Given the description of an element on the screen output the (x, y) to click on. 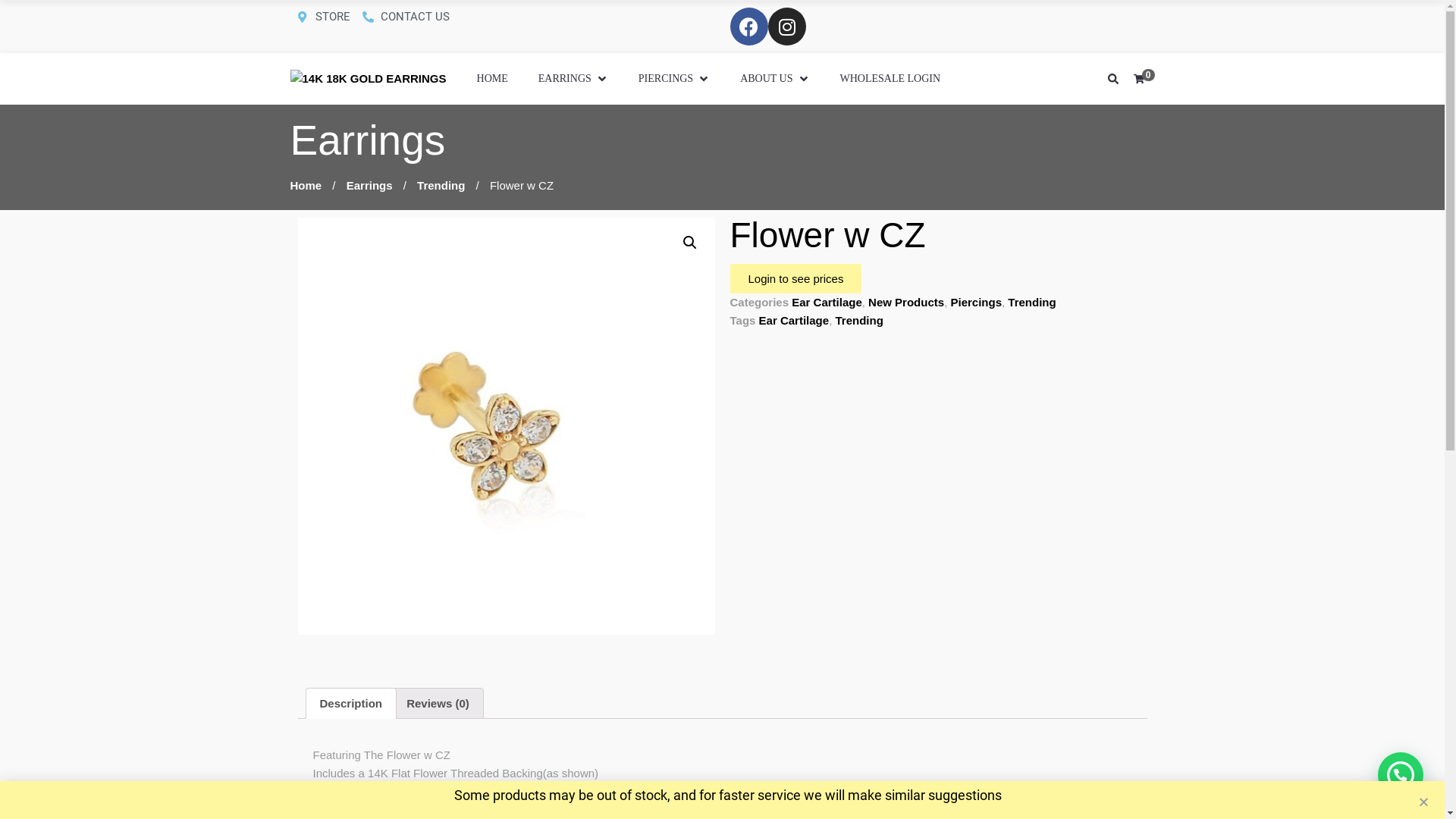
Description Element type: text (351, 703)
ABOUT US Element type: text (774, 78)
Home Element type: text (305, 184)
WHOLESALE LOGIN Element type: text (890, 78)
New Products Element type: text (906, 301)
Ear Cartilage Element type: text (794, 319)
STORE Element type: text (323, 16)
14K 18K GOLD EARRINGS Element type: hover (367, 78)
Earrings Element type: text (369, 184)
Piercings Element type: text (975, 301)
Trending Element type: text (858, 319)
EARRINGS Element type: text (573, 78)
Login to see prices Element type: text (795, 278)
Trending Element type: text (440, 184)
PIERCINGS Element type: text (673, 78)
Trending Element type: text (1031, 301)
CONTACT US Element type: text (405, 16)
Ear Cartilage Element type: text (826, 301)
CSP-11310_1 Element type: hover (505, 425)
0 Element type: text (1140, 78)
Reviews (0) Element type: text (437, 703)
HOME Element type: text (492, 78)
